Given the description of an element on the screen output the (x, y) to click on. 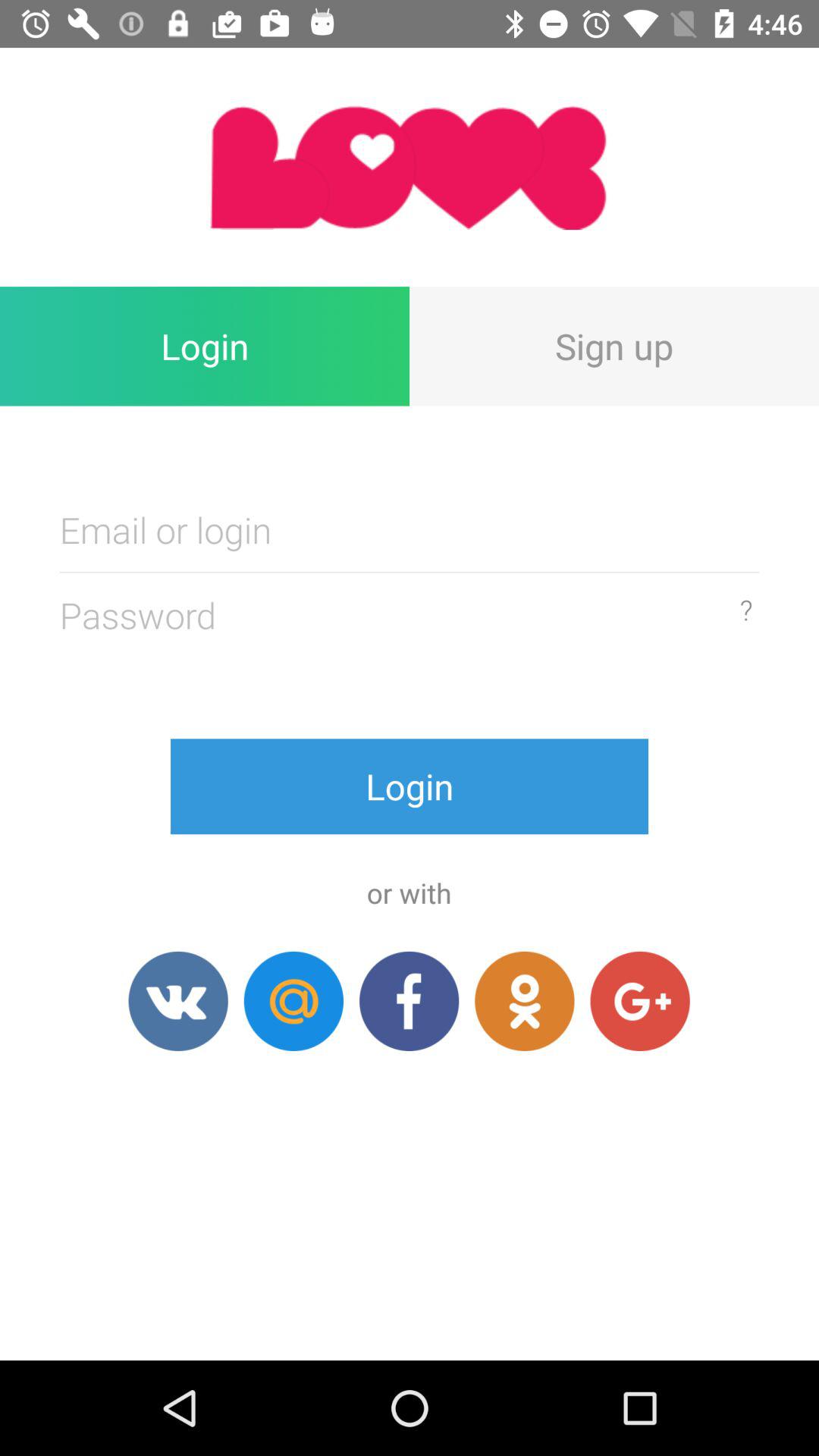
click the  ?  app (746, 609)
